Given the description of an element on the screen output the (x, y) to click on. 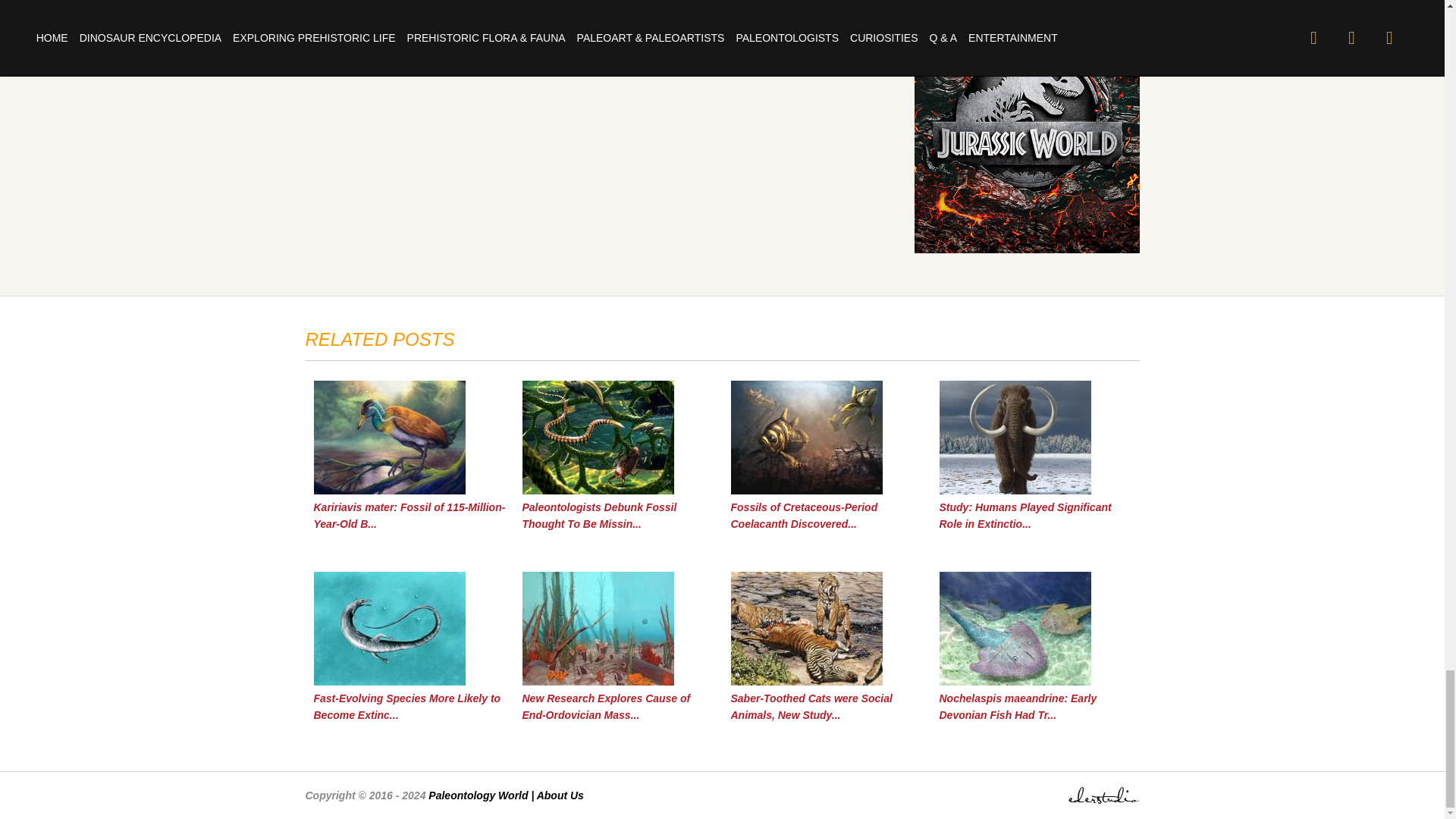
Created by EDERSTUDIO (1103, 799)
